Given the description of an element on the screen output the (x, y) to click on. 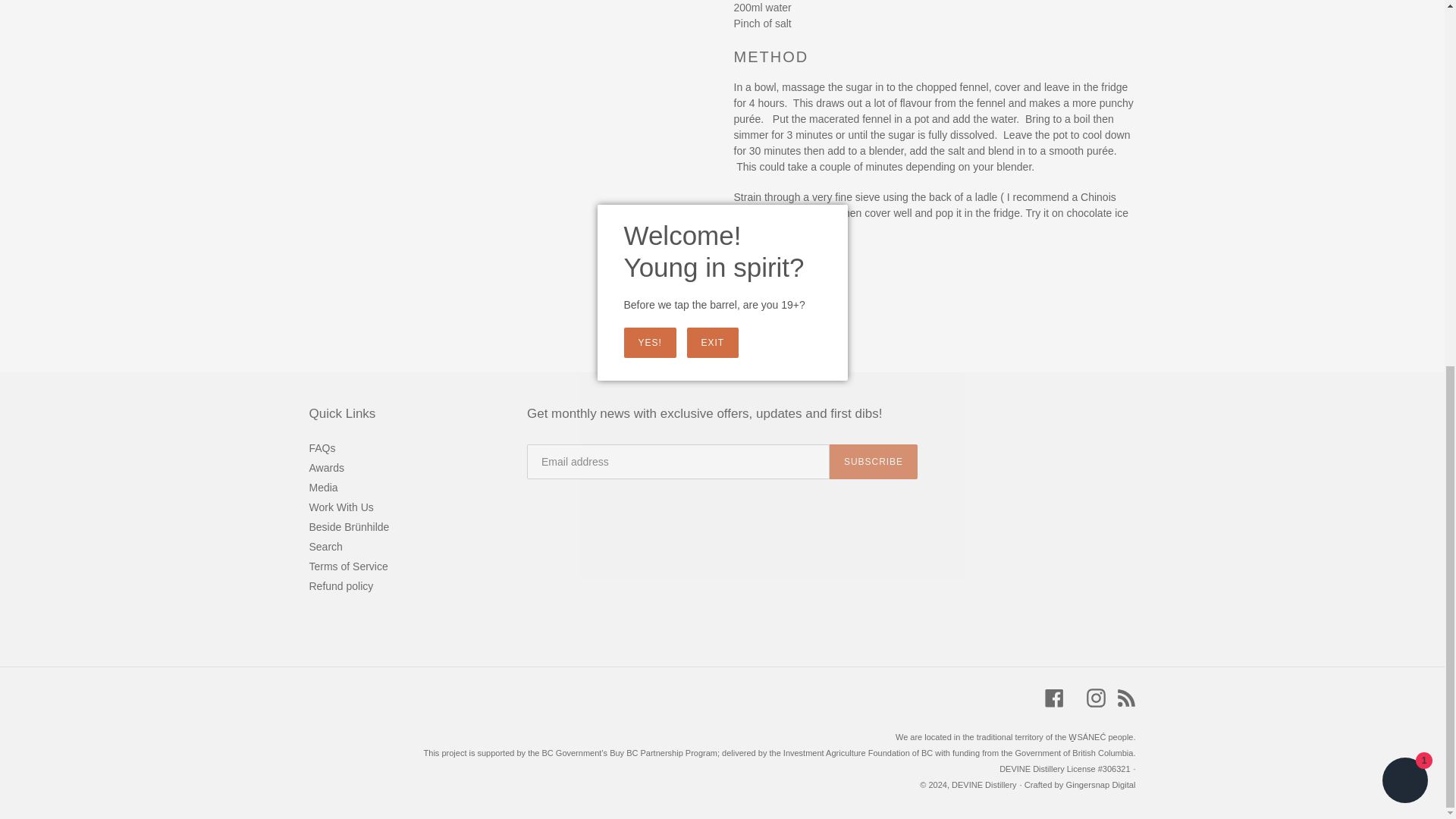
Work With Us (341, 507)
Terms of Service (348, 566)
SUBSCRIBE (873, 461)
BACK TO COCKTAILS (722, 315)
Awards (325, 467)
Media (322, 487)
Search (325, 546)
Shopify online store chat (1404, 123)
Refund policy (341, 585)
FAQs (322, 448)
